Given the description of an element on the screen output the (x, y) to click on. 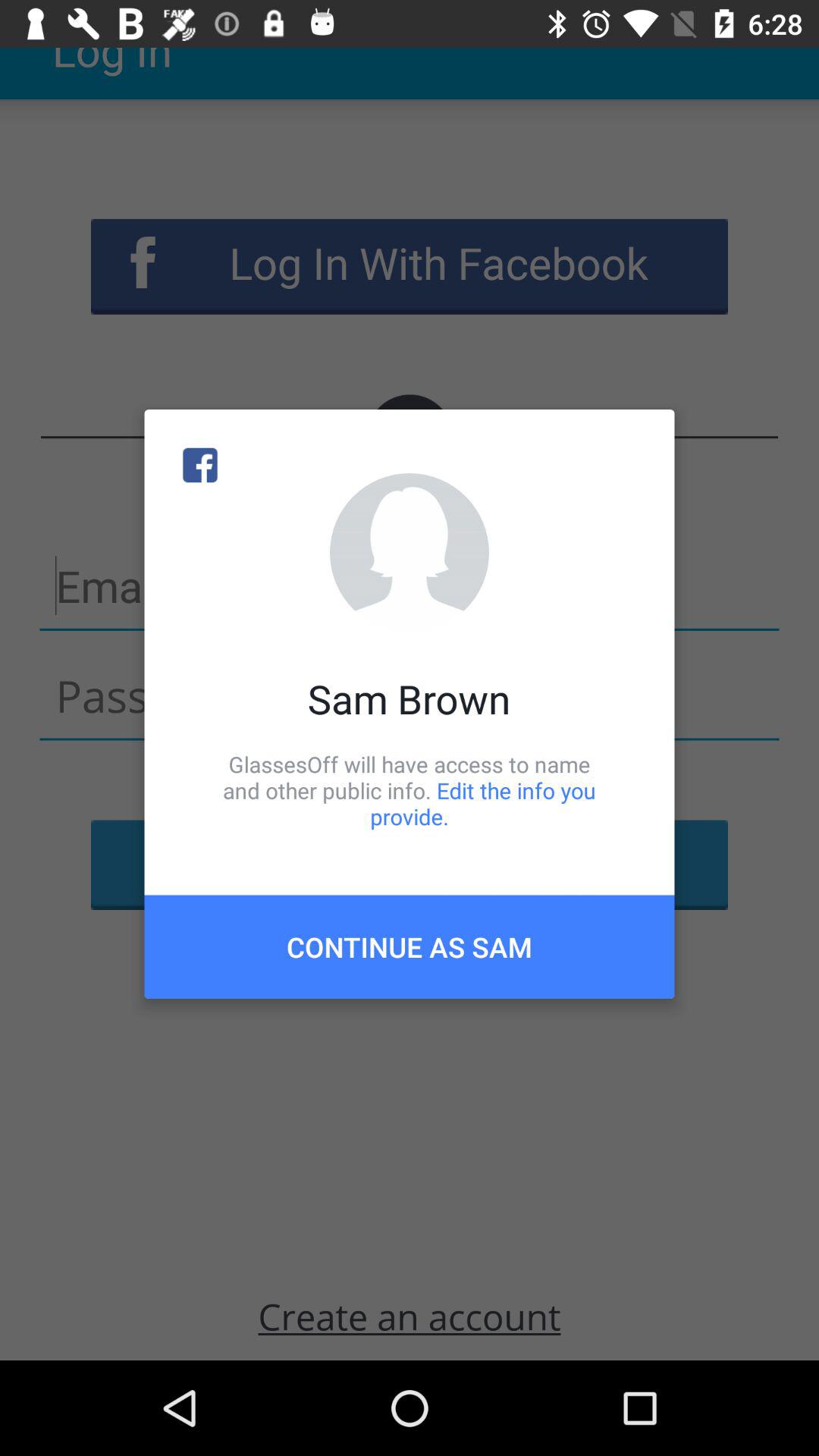
jump until the continue as sam (409, 946)
